Given the description of an element on the screen output the (x, y) to click on. 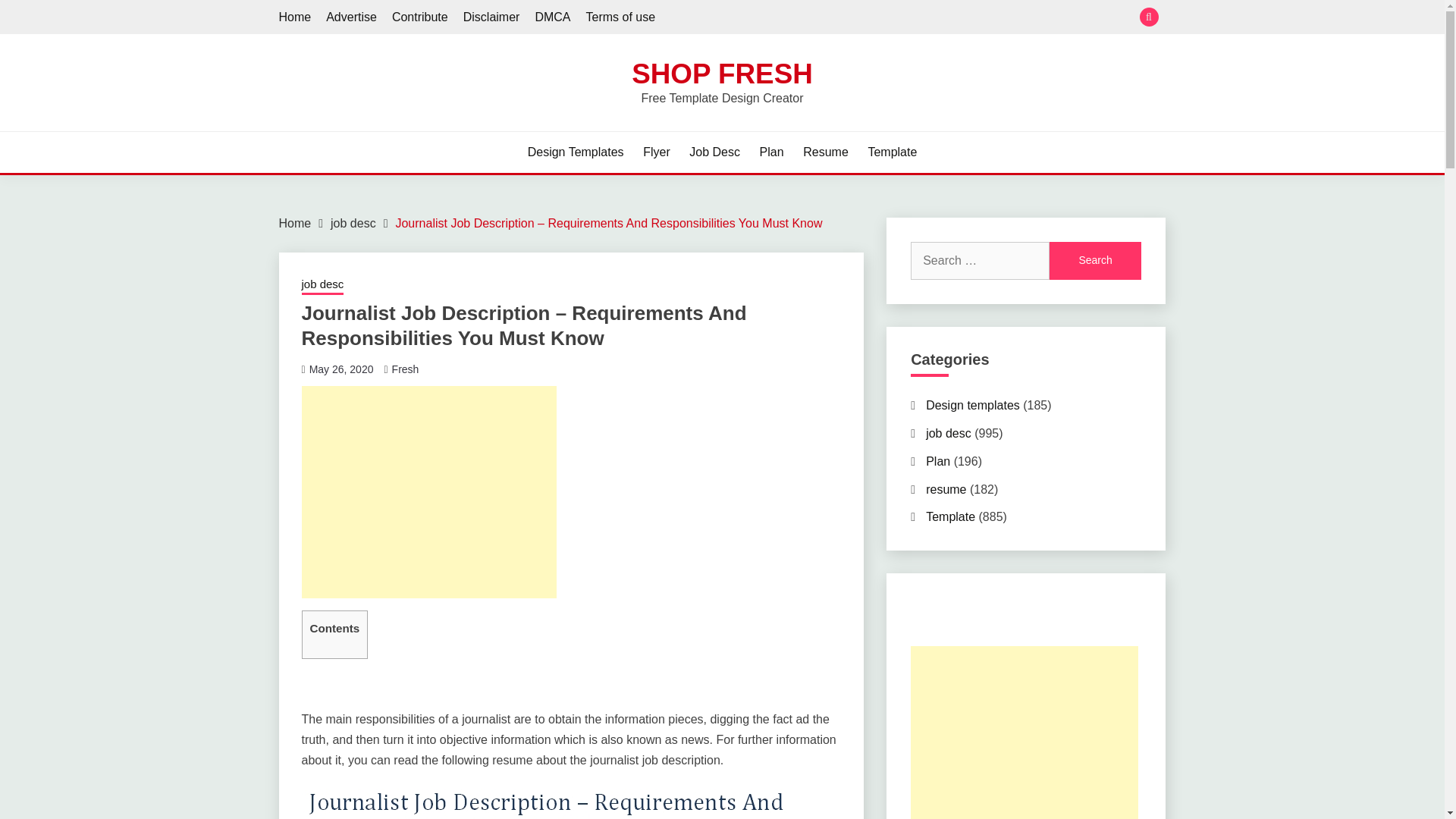
Home (295, 16)
Search (1095, 260)
Contribute (419, 16)
May 26, 2020 (341, 369)
DMCA (552, 16)
Job Desc (713, 152)
Flyer (656, 152)
Terms of use (620, 16)
Advertise (351, 16)
Search (1095, 260)
